Given the description of an element on the screen output the (x, y) to click on. 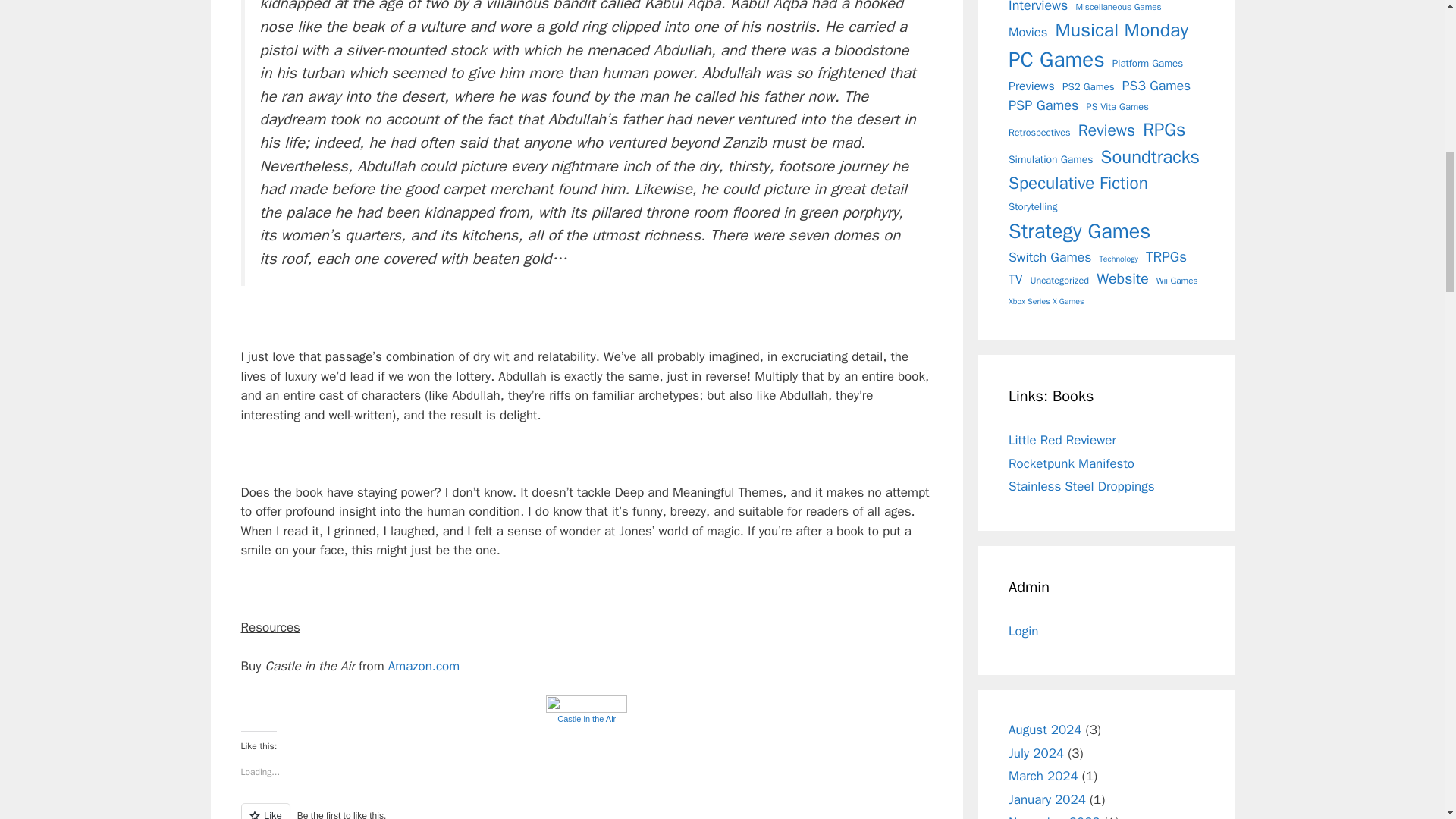
Like or Reblog (587, 811)
Another fine science fiction blog (1081, 486)
Castle in the Air (586, 714)
Amazon.com (424, 666)
